Given the description of an element on the screen output the (x, y) to click on. 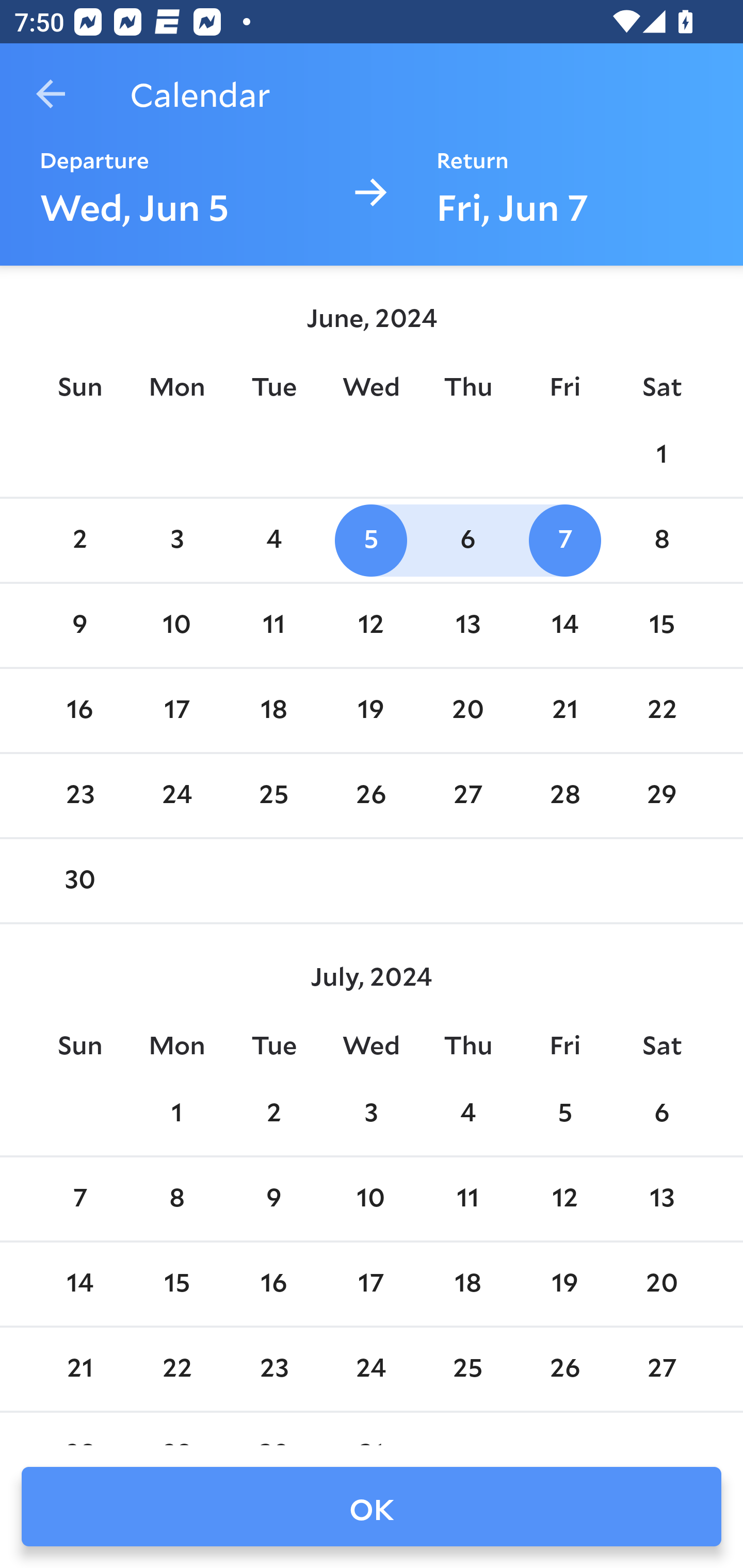
Navigate up (50, 93)
1 (661, 454)
2 (79, 540)
3 (177, 540)
4 (273, 540)
5 (371, 540)
6 (467, 540)
7 (565, 540)
8 (661, 540)
9 (79, 625)
10 (177, 625)
11 (273, 625)
12 (371, 625)
13 (467, 625)
14 (565, 625)
15 (661, 625)
16 (79, 710)
17 (177, 710)
18 (273, 710)
19 (371, 710)
20 (467, 710)
21 (565, 710)
22 (661, 710)
23 (79, 796)
24 (177, 796)
25 (273, 796)
26 (371, 796)
27 (467, 796)
28 (565, 796)
29 (661, 796)
30 (79, 881)
1 (177, 1114)
2 (273, 1114)
3 (371, 1114)
4 (467, 1114)
5 (565, 1114)
6 (661, 1114)
7 (79, 1199)
8 (177, 1199)
9 (273, 1199)
10 (371, 1199)
11 (467, 1199)
12 (565, 1199)
13 (661, 1199)
14 (79, 1284)
15 (177, 1284)
16 (273, 1284)
17 (371, 1284)
18 (467, 1284)
19 (565, 1284)
